Given the description of an element on the screen output the (x, y) to click on. 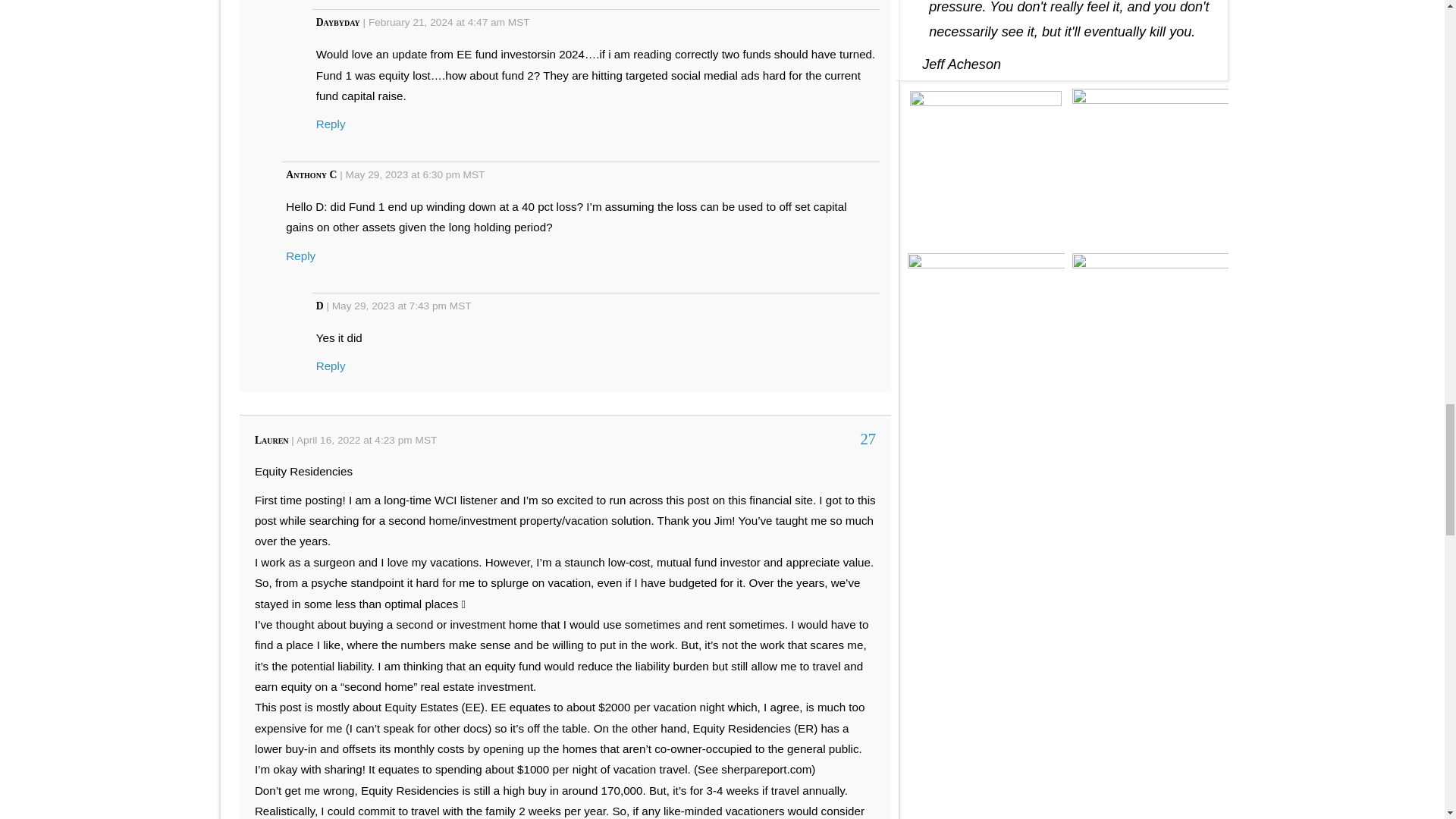
Mountain Standard Time (426, 439)
Mountain Standard Time (518, 21)
Mountain Standard Time (460, 306)
Mountain Standard Time (473, 174)
